Given the description of an element on the screen output the (x, y) to click on. 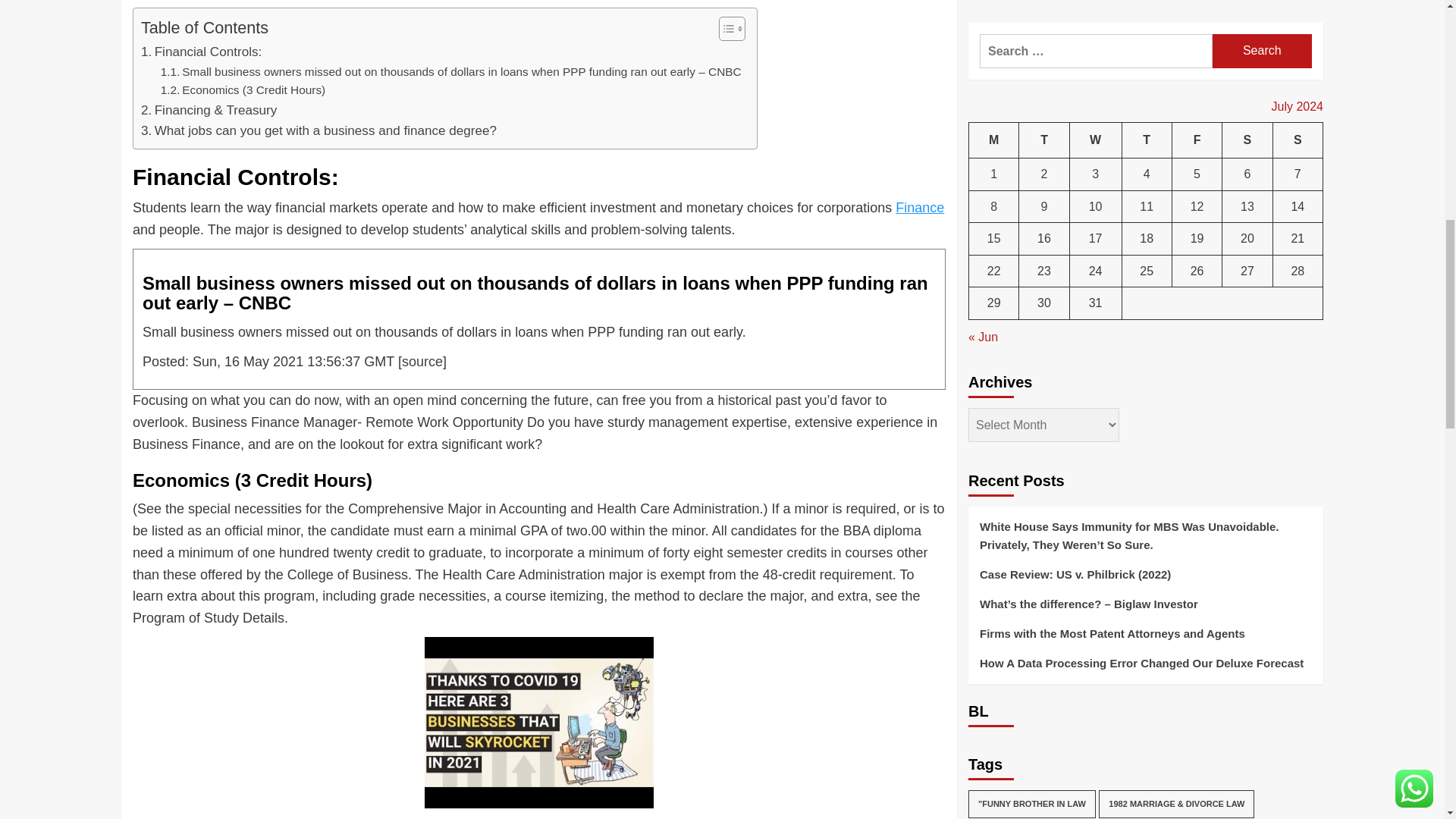
What jobs can you get with a business and finance degree? (318, 130)
Financial Controls: (201, 51)
What jobs can you get with a business and finance degree? (318, 130)
Financial Controls: (201, 51)
source (421, 361)
Finance (919, 207)
